Given the description of an element on the screen output the (x, y) to click on. 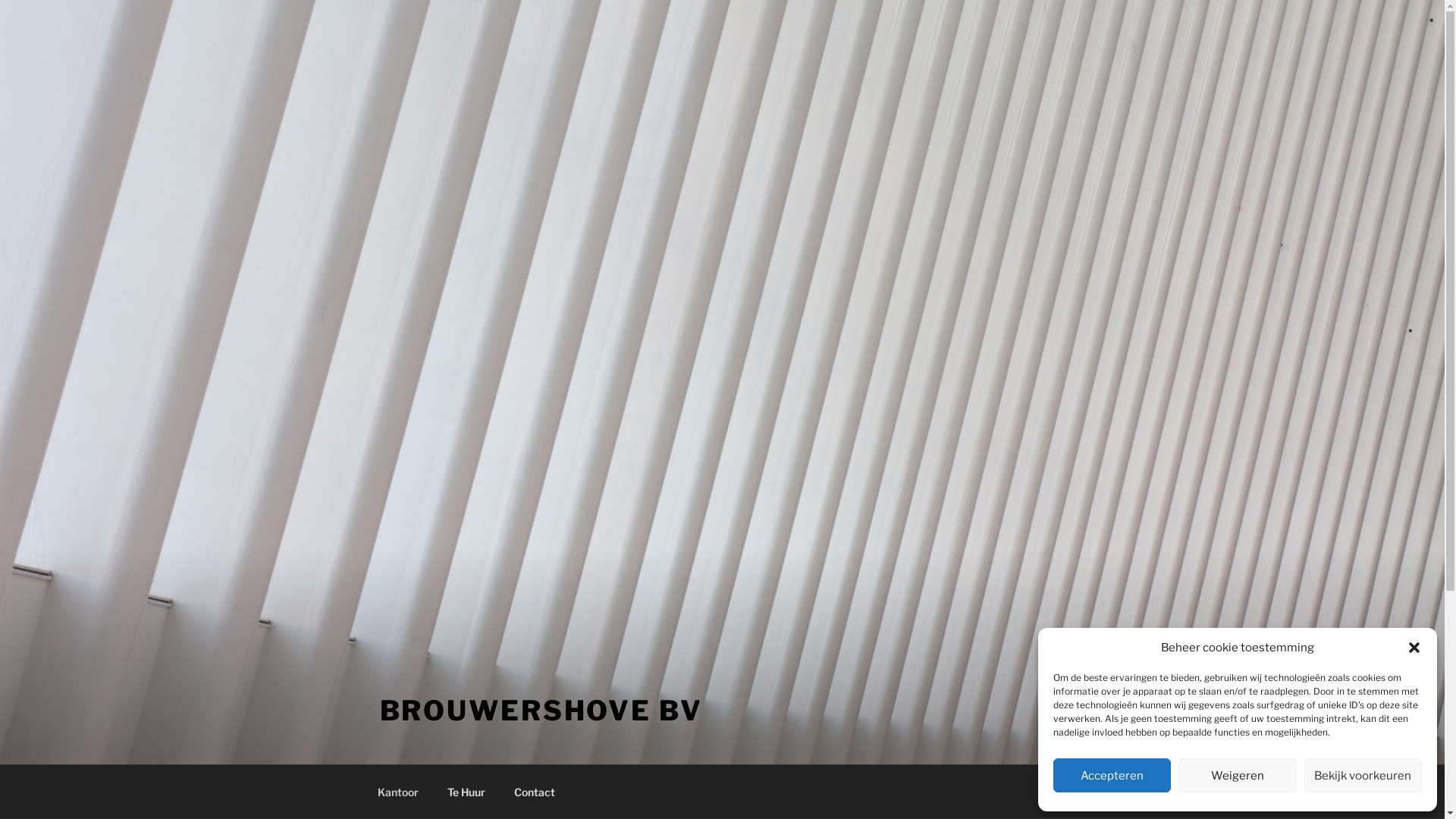
Te Huur Element type: text (465, 791)
Naar beneden scrollen naar inhoud Element type: text (1083, 790)
Kantoor Element type: text (397, 791)
Weigeren Element type: text (1236, 775)
Accepteren Element type: text (1111, 775)
BROUWERSHOVE BV Element type: text (540, 710)
Bekijk voorkeuren Element type: text (1362, 775)
Contact Element type: text (533, 791)
